Given the description of an element on the screen output the (x, y) to click on. 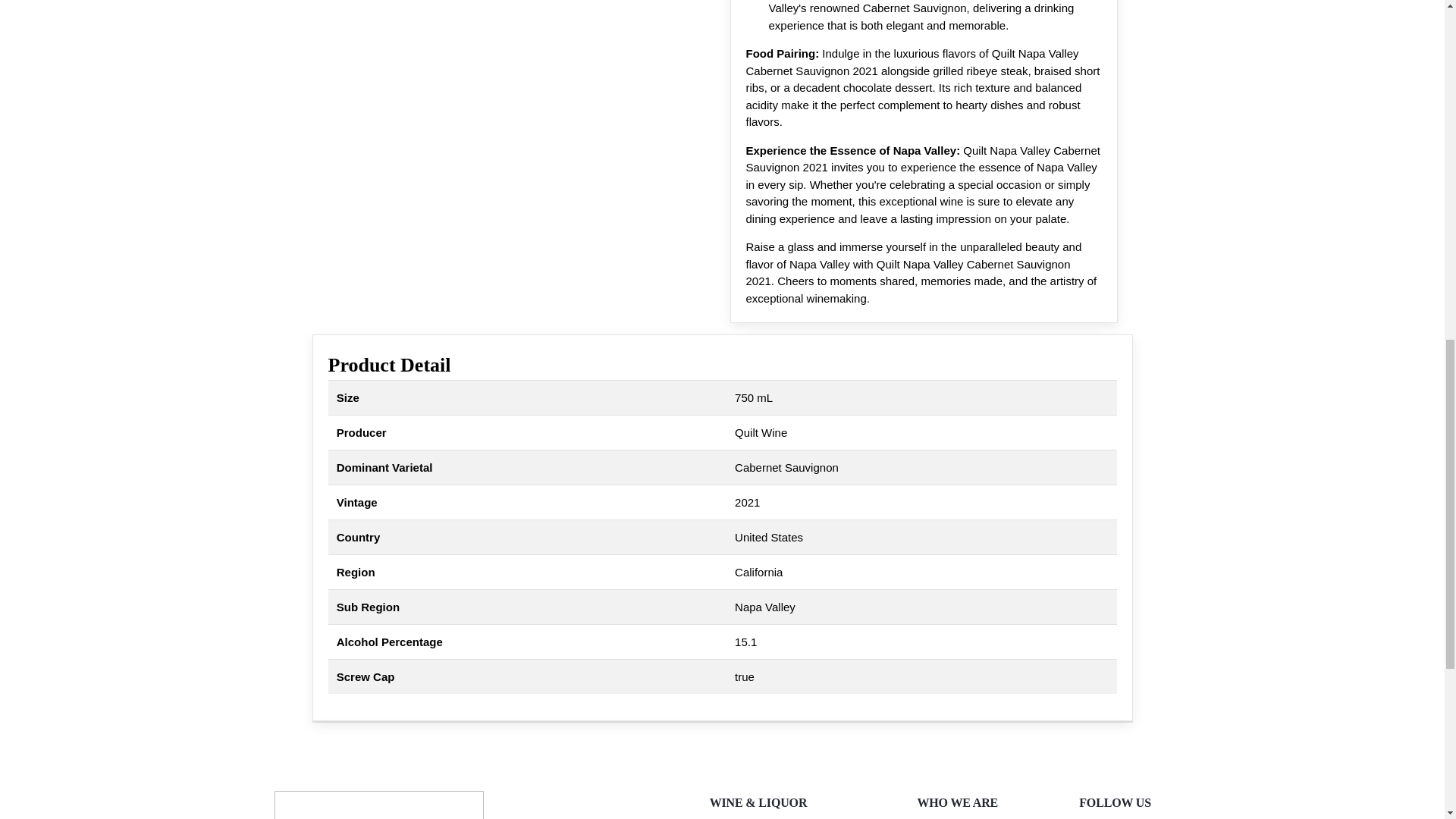
TheLiquorStore.com (379, 805)
